Given the description of an element on the screen output the (x, y) to click on. 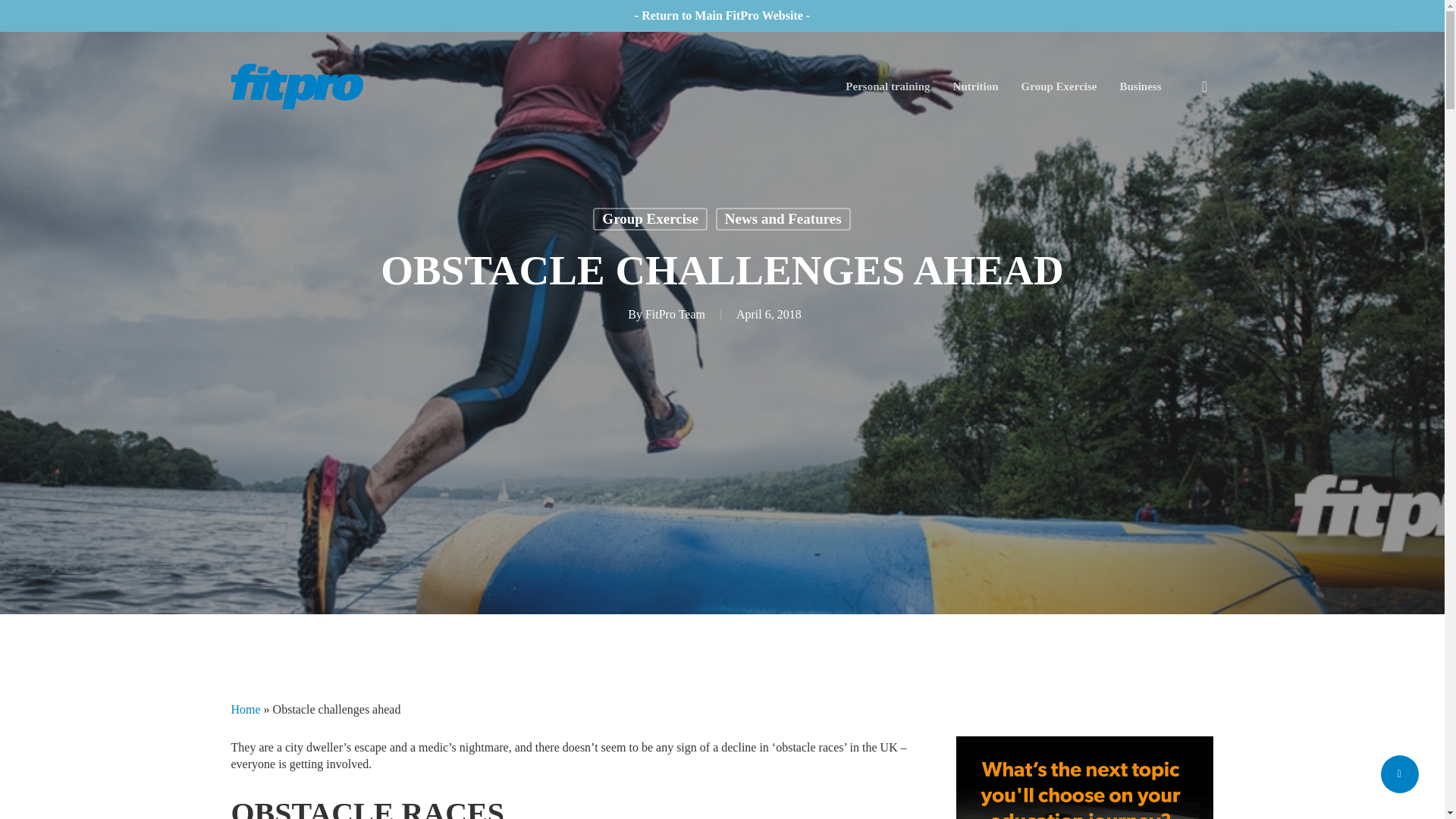
search (1203, 86)
News and Features (783, 219)
Group Exercise (1059, 85)
Business (1139, 85)
Nutrition (975, 85)
Group Exercise (649, 219)
- Return to Main FitPro Website - (721, 15)
FitPro Team (674, 314)
Home (245, 708)
Personal training (887, 85)
